Given the description of an element on the screen output the (x, y) to click on. 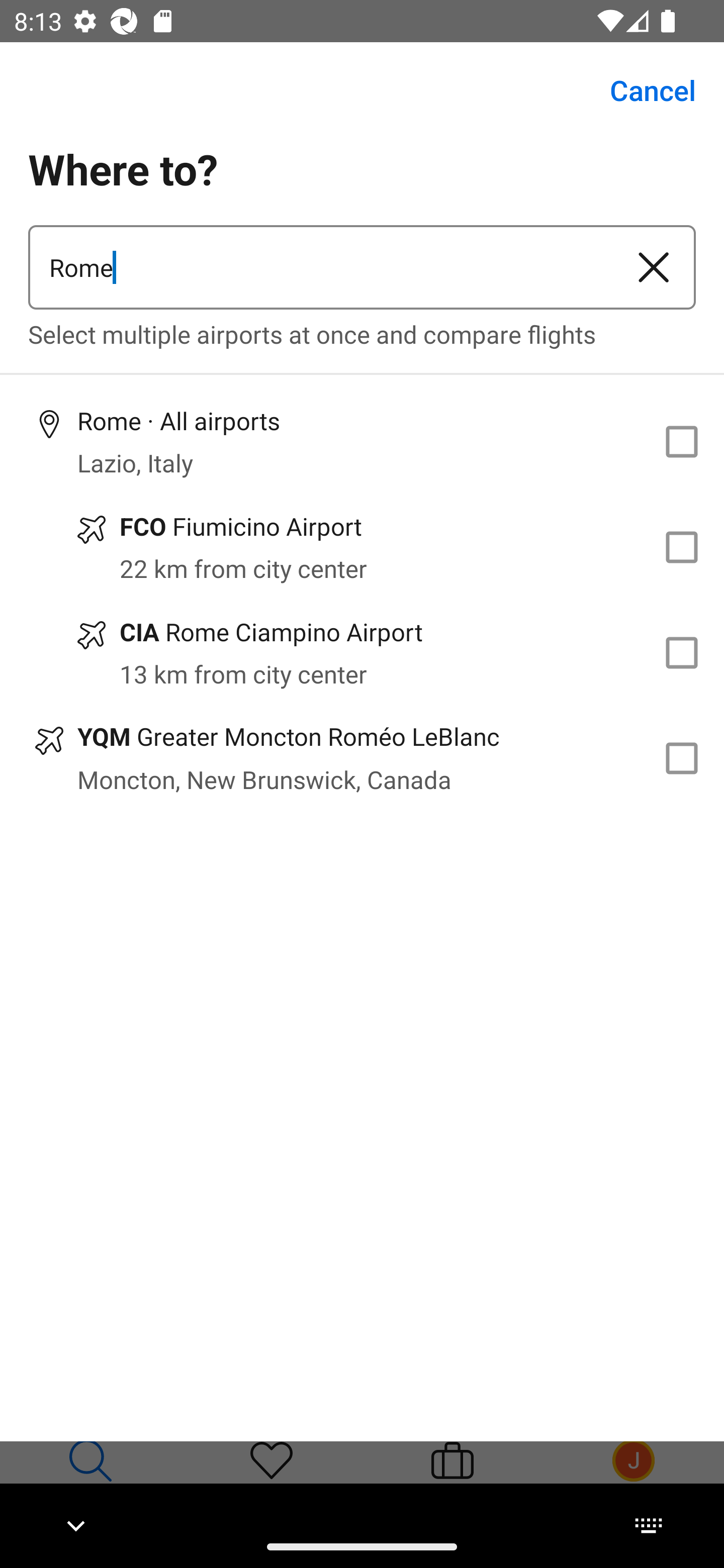
Cancel (641, 90)
Rome (319, 266)
Clear airport or city (653, 266)
Rome · All airports Lazio, Italy (362, 440)
FCO Fiumicino Airport 22 km from city center (362, 547)
CIA Rome Ciampino Airport 13 km from city center (362, 652)
